Given the description of an element on the screen output the (x, y) to click on. 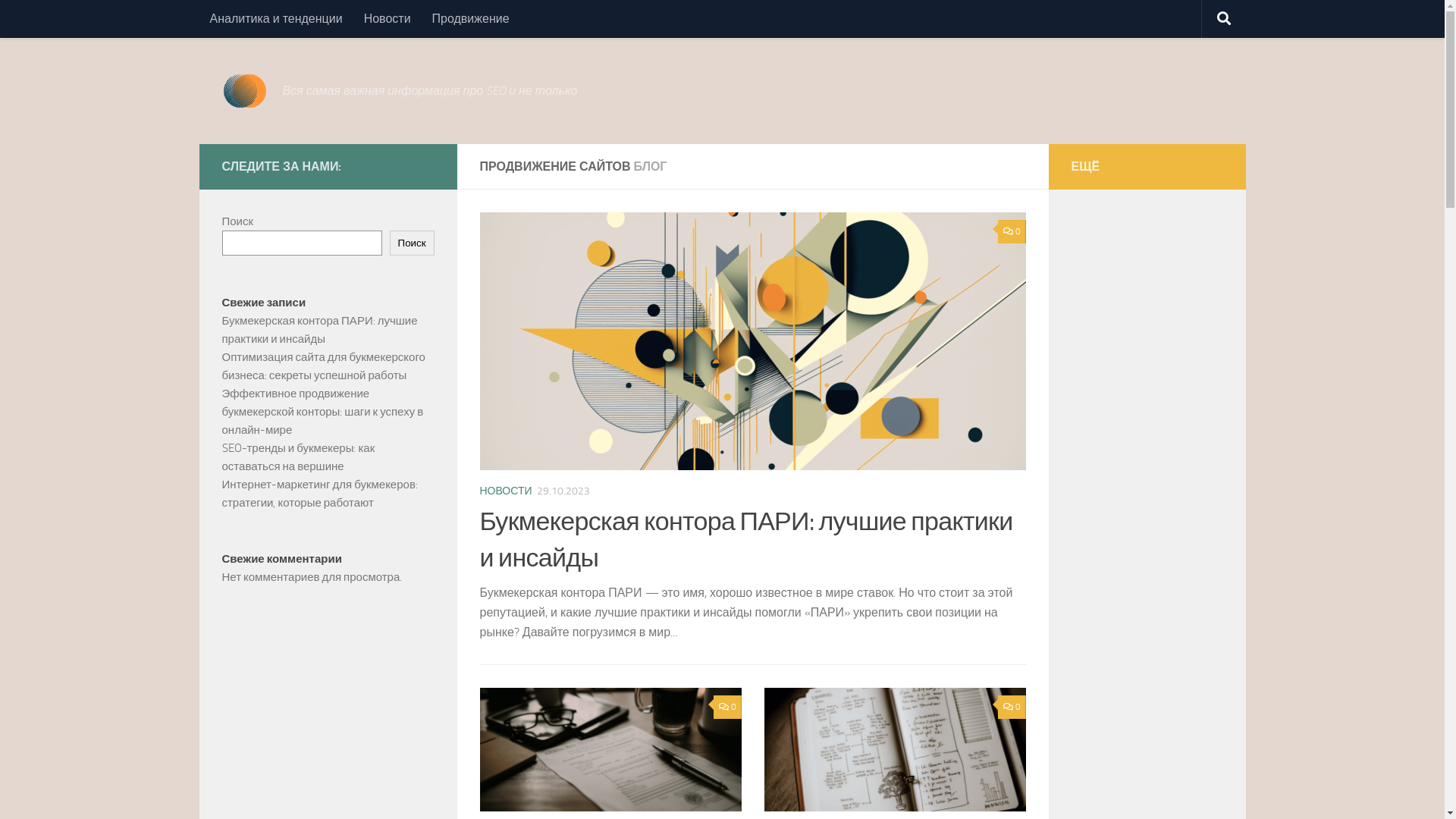
0 Element type: text (726, 706)
0 Element type: text (1011, 706)
0 Element type: text (1011, 231)
